Given the description of an element on the screen output the (x, y) to click on. 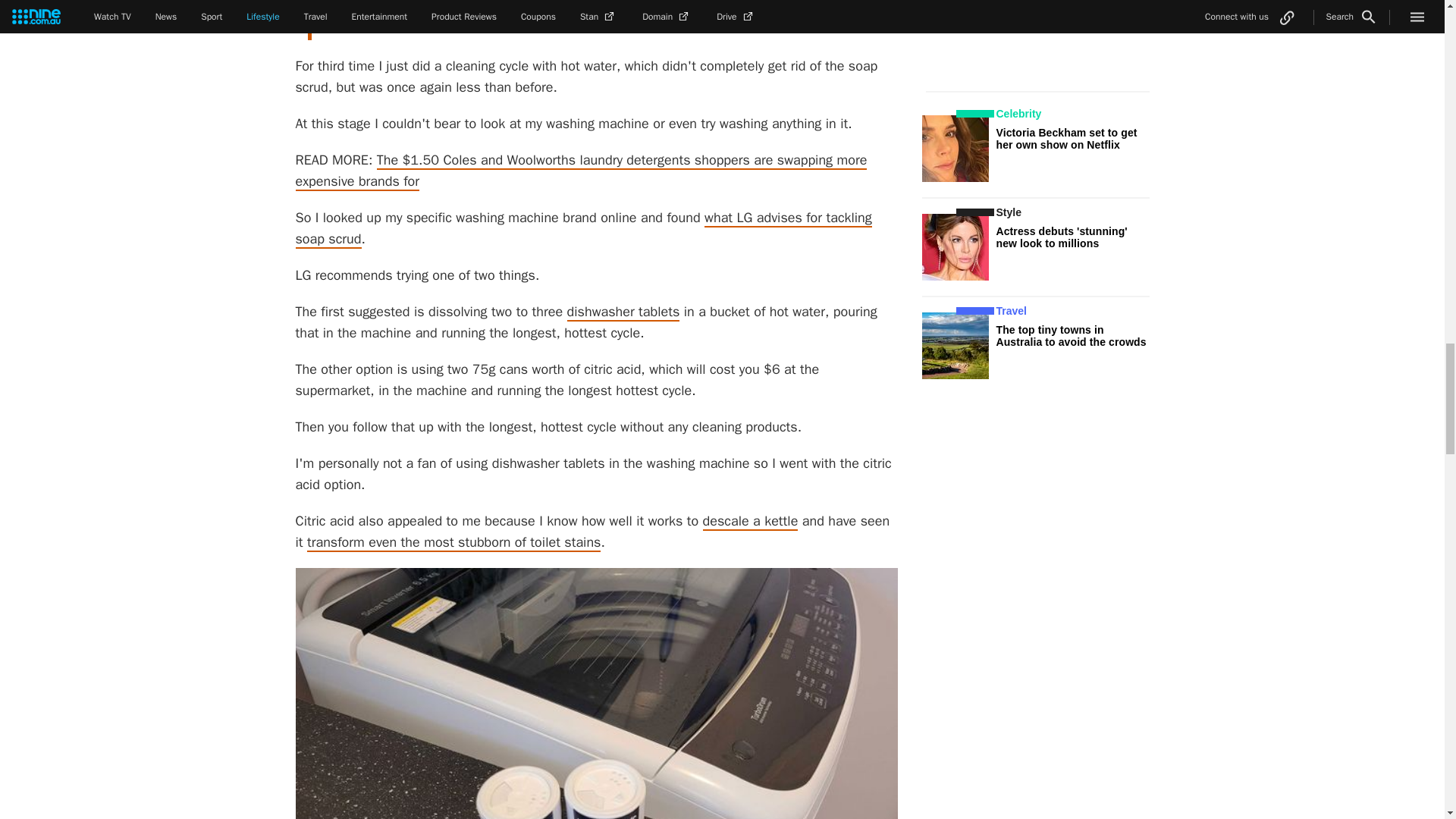
transform even the most stubborn of toilet stains (454, 542)
dishwasher tablets (623, 312)
what LG advises for tackling soap scrud (583, 228)
dishwasher tablets (623, 312)
what LG advises for tackling soap scrud (583, 228)
transform even the most stubborn of toilet stains (454, 542)
descale a kettle (750, 521)
descale a kettle (750, 521)
